Given the description of an element on the screen output the (x, y) to click on. 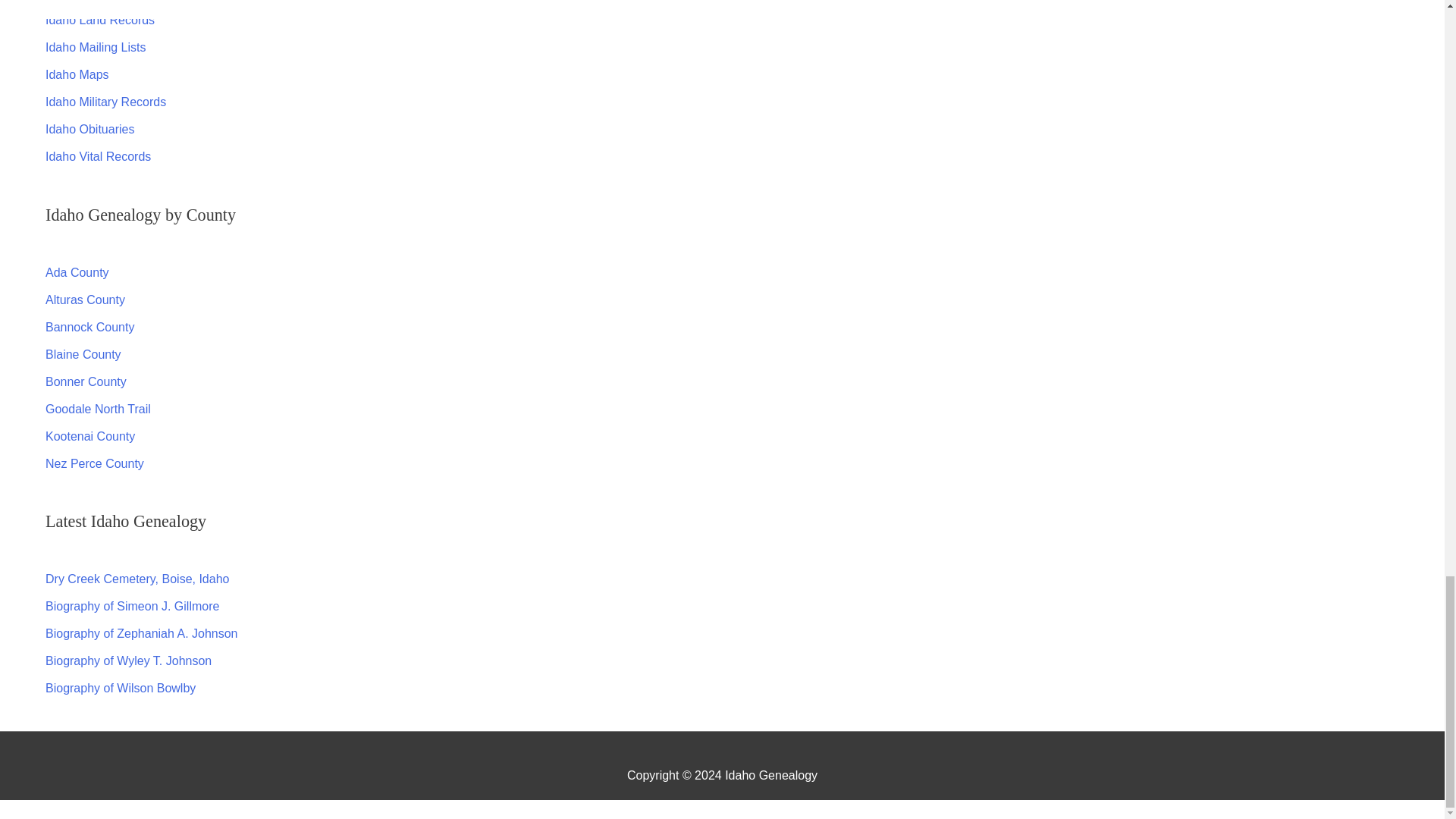
Idaho Land Records (99, 19)
Idaho Maps (77, 74)
Idaho Mailing Lists (96, 47)
